Given the description of an element on the screen output the (x, y) to click on. 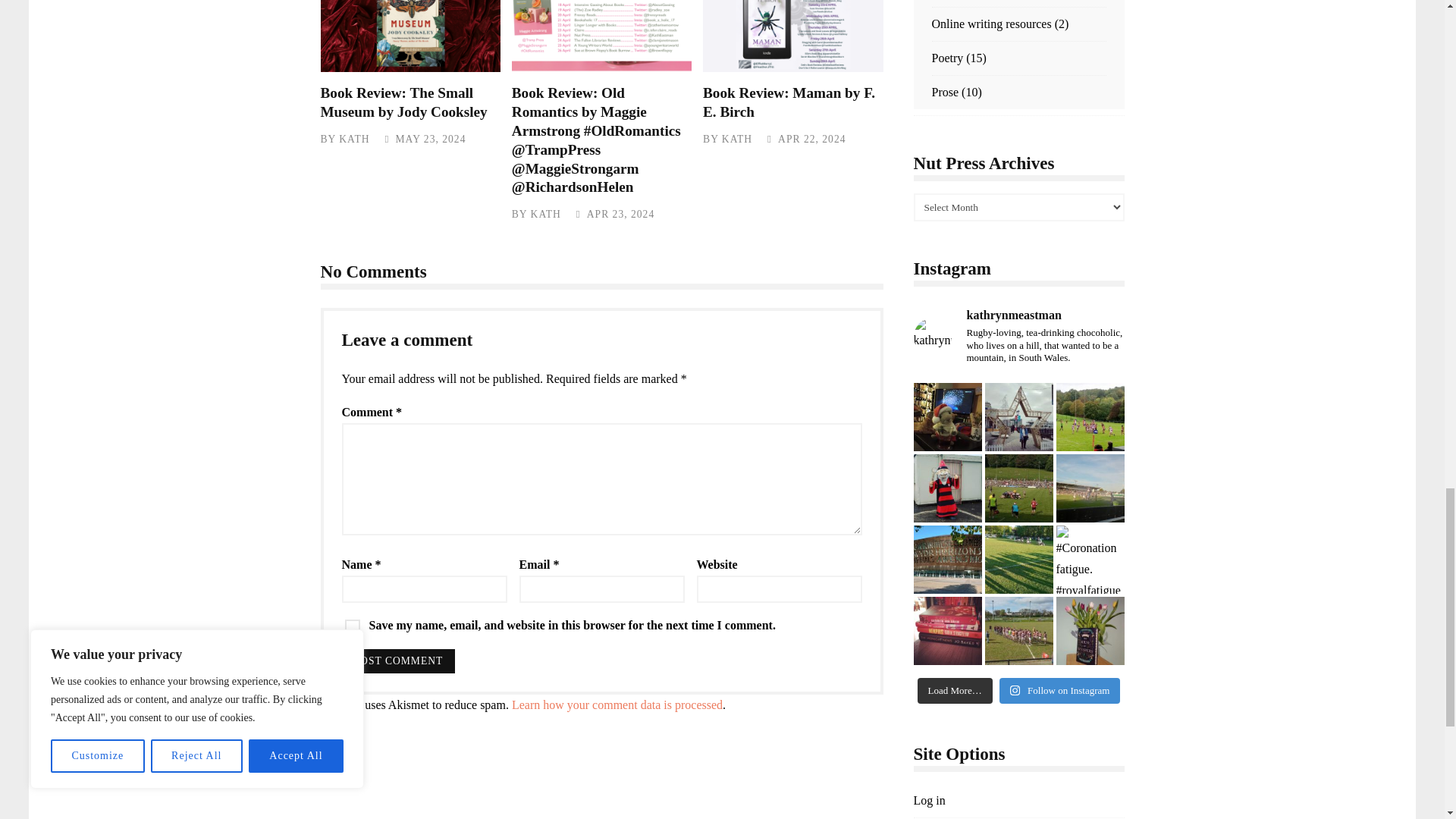
Posts by kath (545, 214)
Posts by kath (737, 138)
Posts by kath (354, 138)
yes (351, 626)
Post Comment (397, 661)
